Given the description of an element on the screen output the (x, y) to click on. 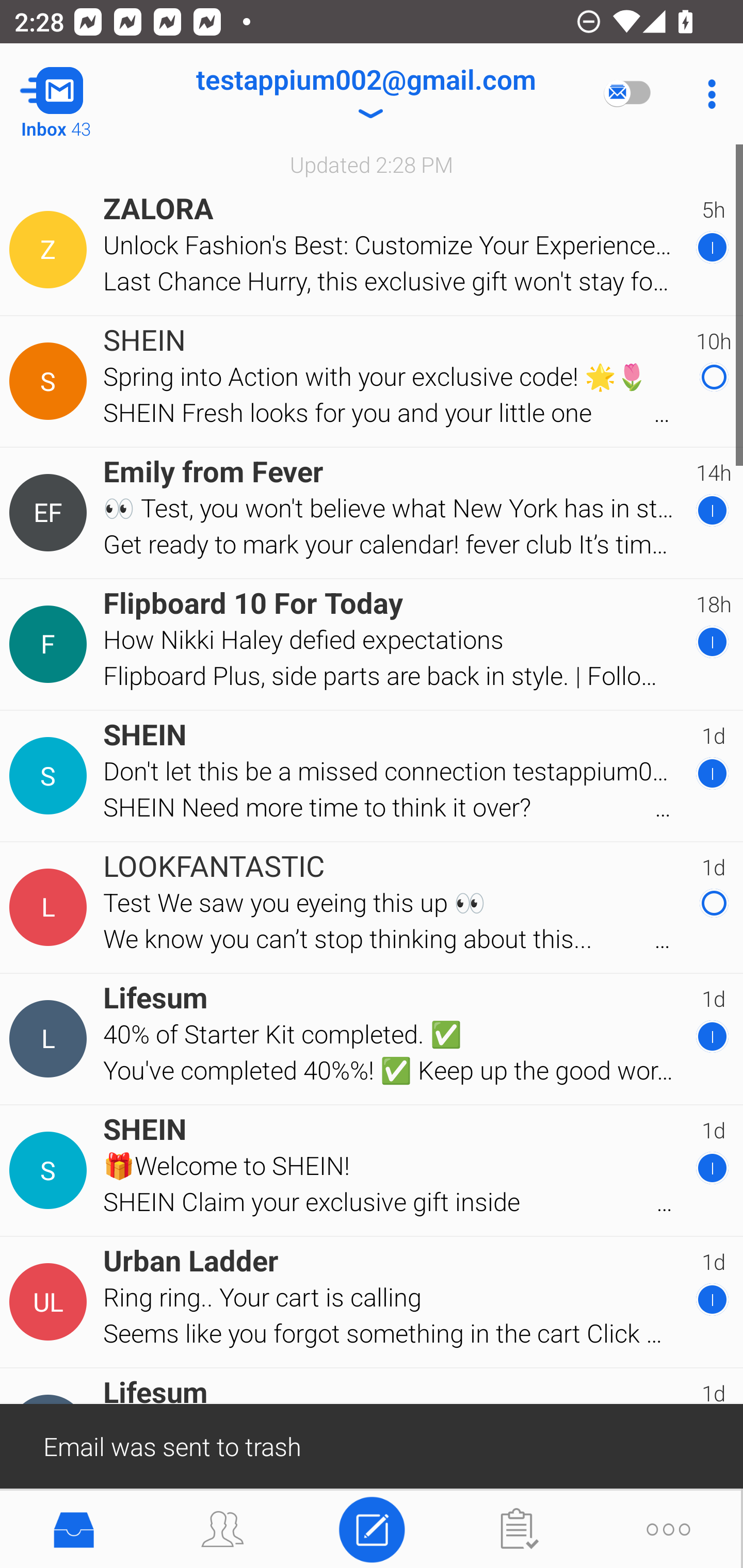
Navigate up (81, 93)
testappium002@gmail.com (365, 93)
More Options (706, 93)
Contact Details (50, 250)
Contact Details (50, 381)
Contact Details (50, 513)
Contact Details (50, 644)
Contact Details (50, 776)
Contact Details (50, 907)
Contact Details (50, 1038)
Contact Details (50, 1170)
Contact Details (50, 1302)
Email was sent to trash (371, 1445)
Compose (371, 1528)
